Given the description of an element on the screen output the (x, y) to click on. 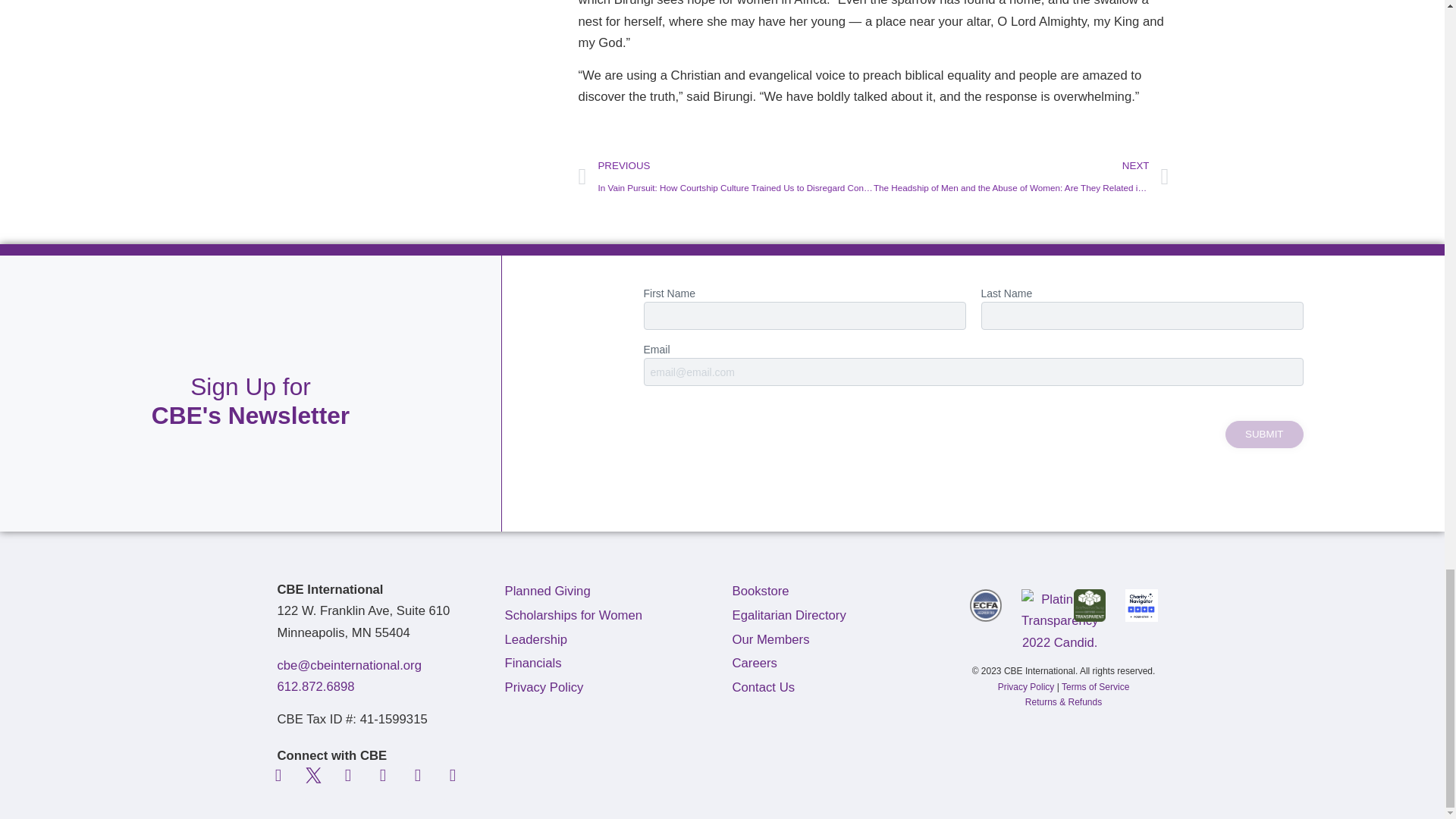
Submit (1264, 433)
